Given the description of an element on the screen output the (x, y) to click on. 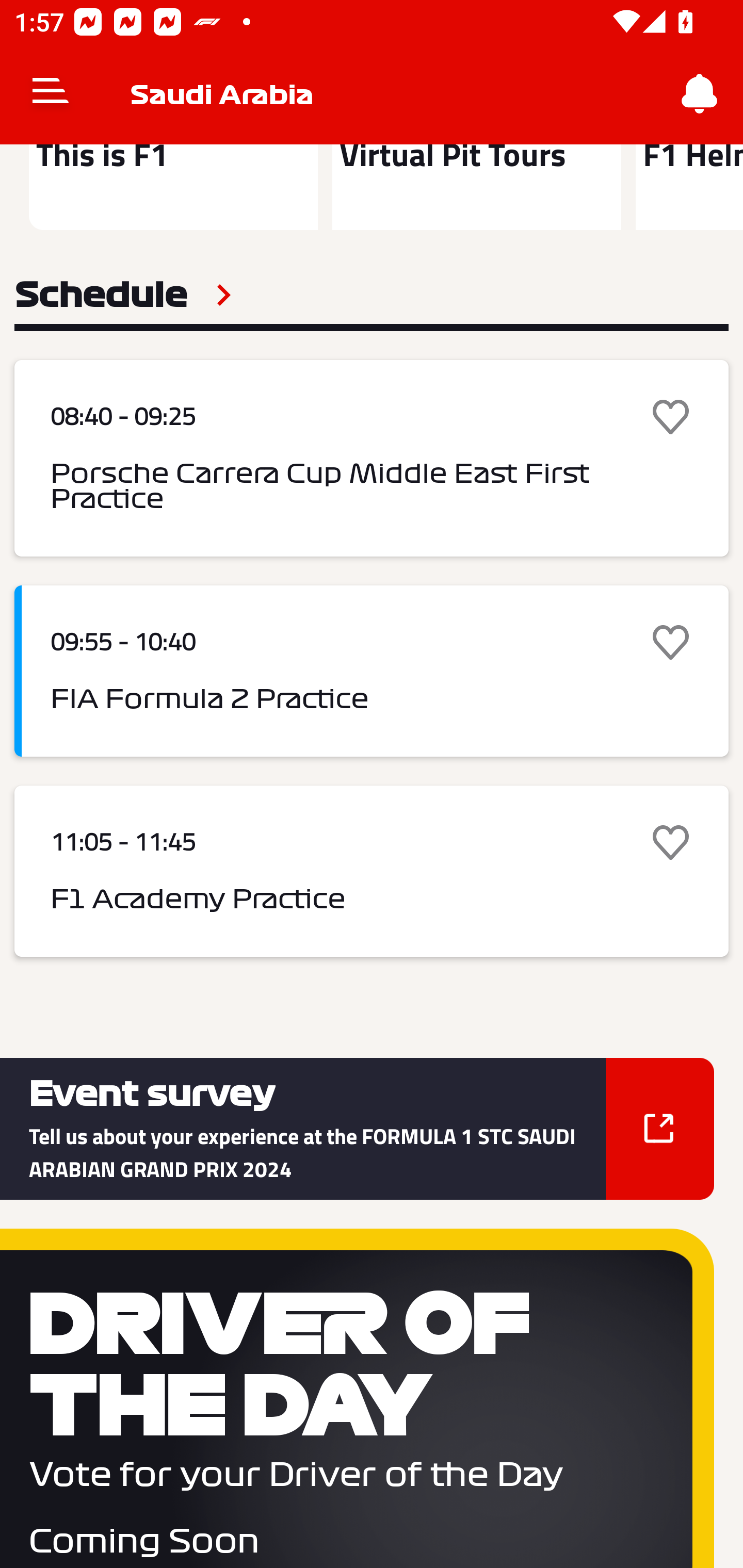
Navigate up (50, 93)
Notifications (699, 93)
This is F1 (173, 187)
Virtual Pit Tours (476, 187)
Schedule (122, 294)
09:55 - 10:40 FIA Formula 2 Practice (371, 670)
11:05 - 11:45 F1 Academy Practice (371, 870)
